Given the description of an element on the screen output the (x, y) to click on. 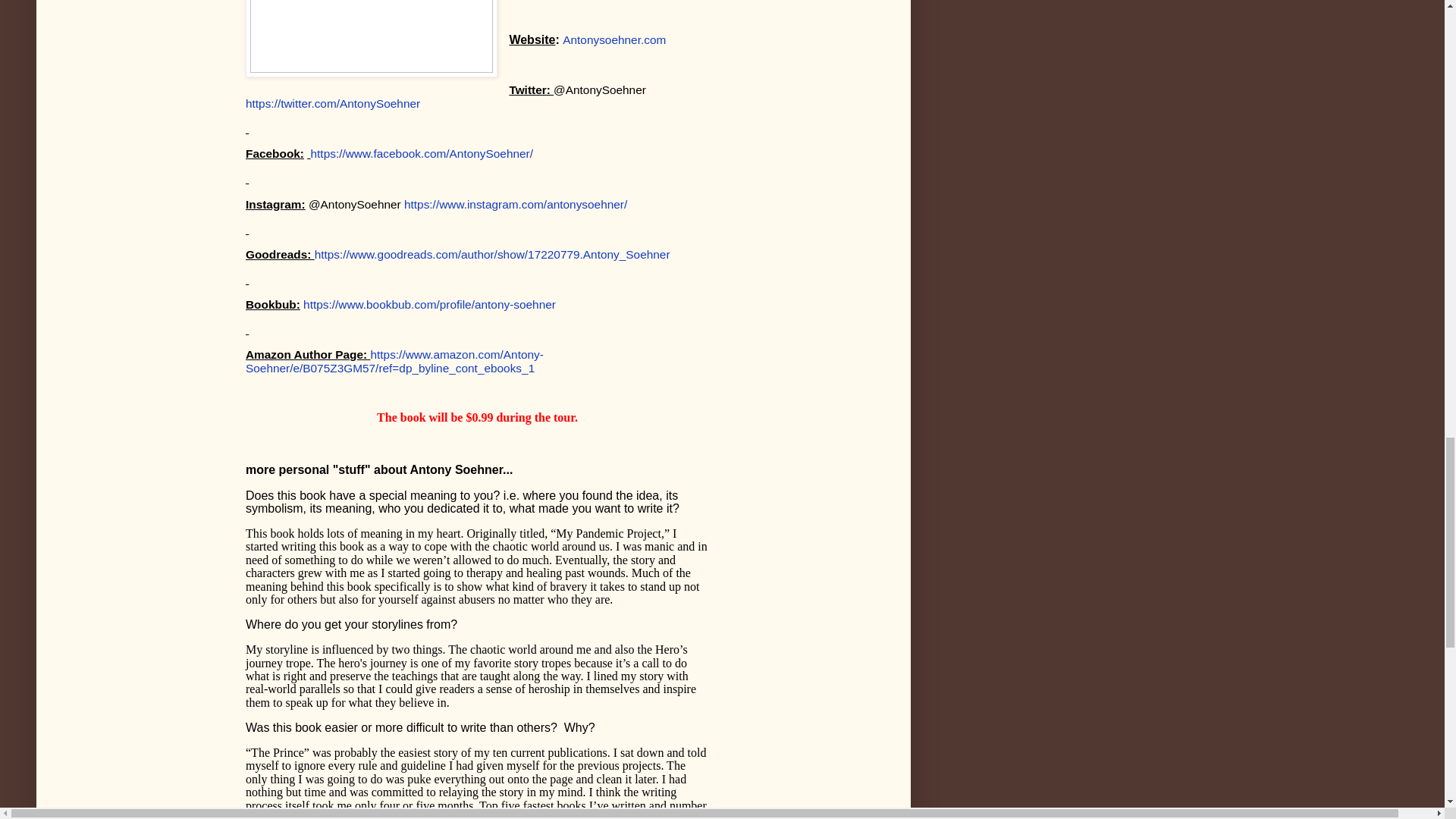
Antonysoehner.com (613, 39)
